Given the description of an element on the screen output the (x, y) to click on. 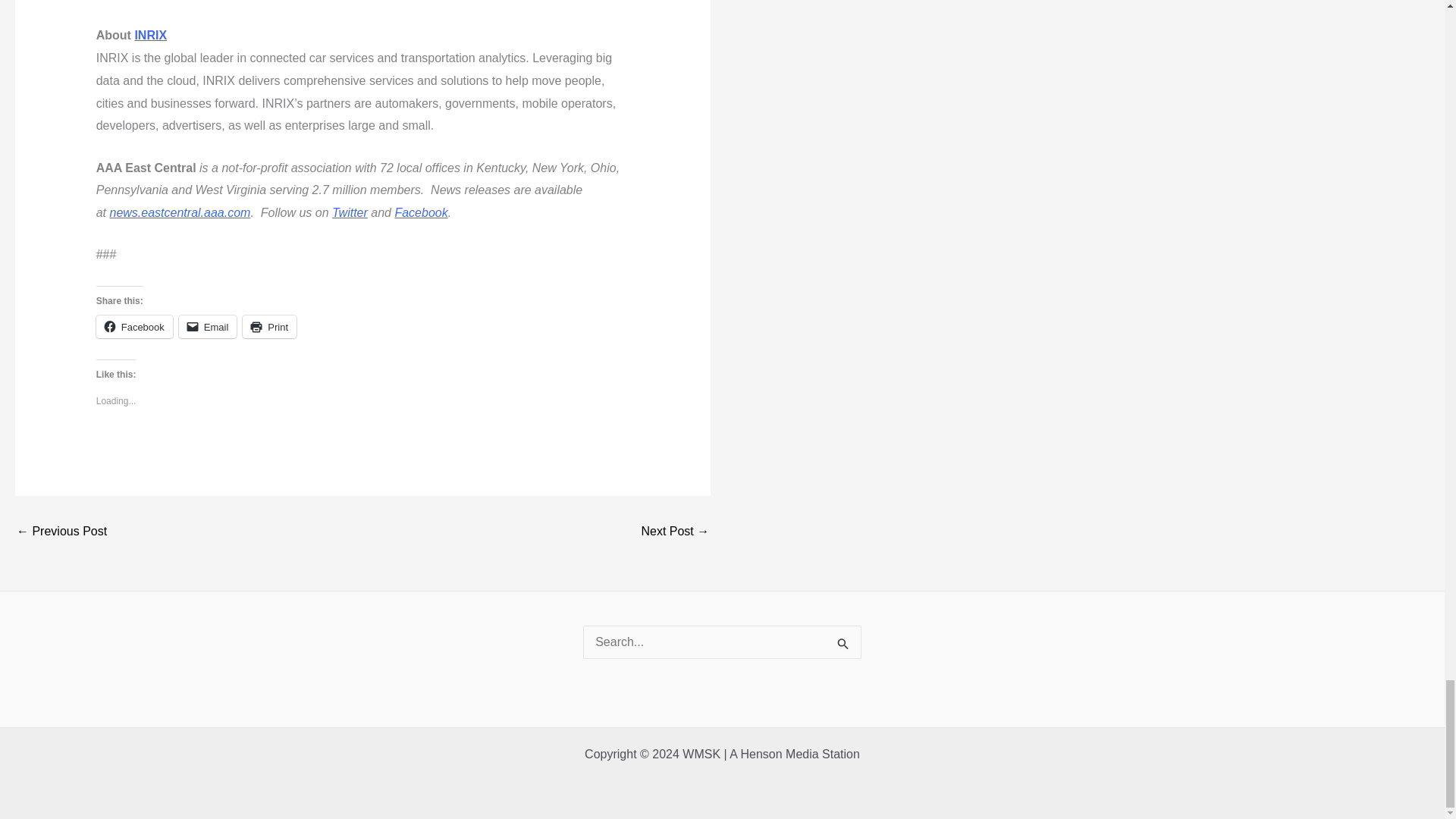
Click to email a link to a friend (208, 326)
Click to share on Facebook (134, 326)
Click to print (270, 326)
